Given the description of an element on the screen output the (x, y) to click on. 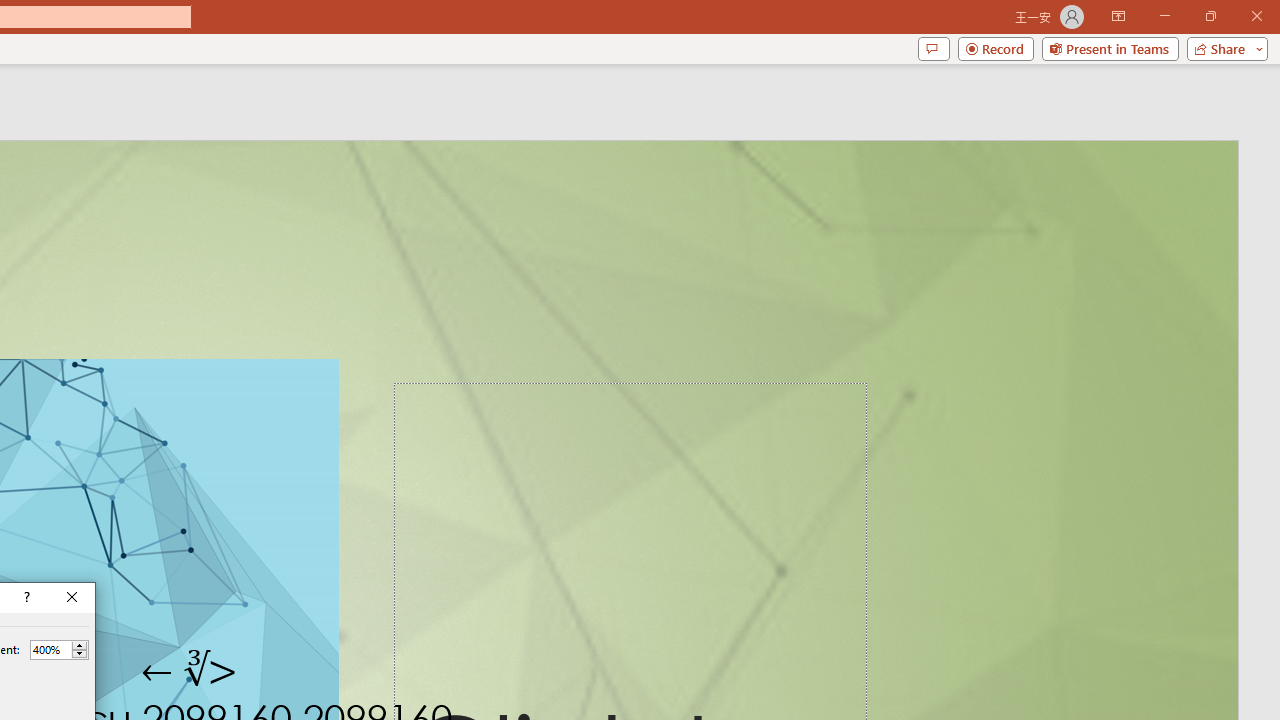
Percent (59, 650)
Percent (50, 649)
Context help (25, 597)
